Given the description of an element on the screen output the (x, y) to click on. 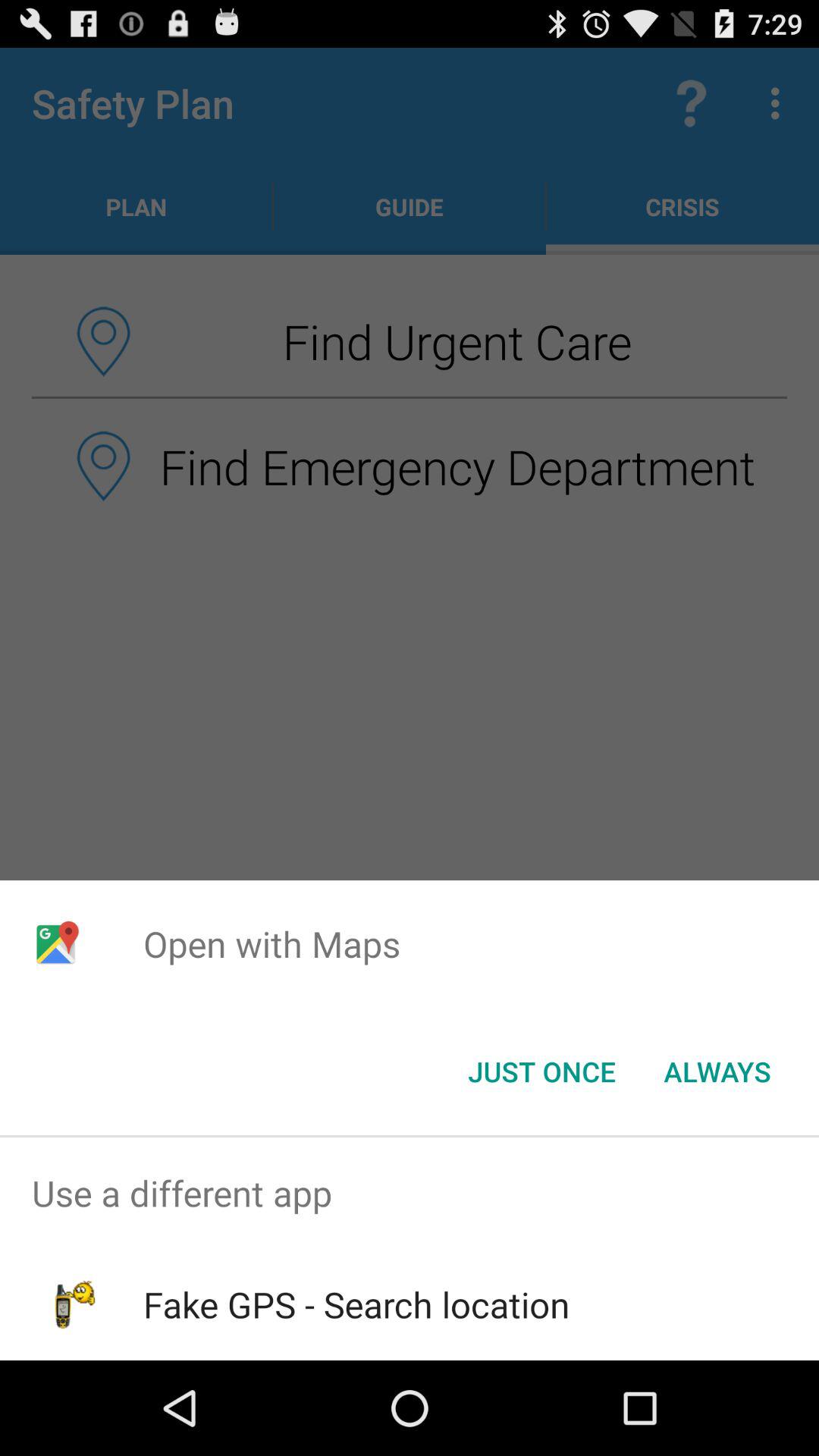
jump to fake gps search (356, 1304)
